Given the description of an element on the screen output the (x, y) to click on. 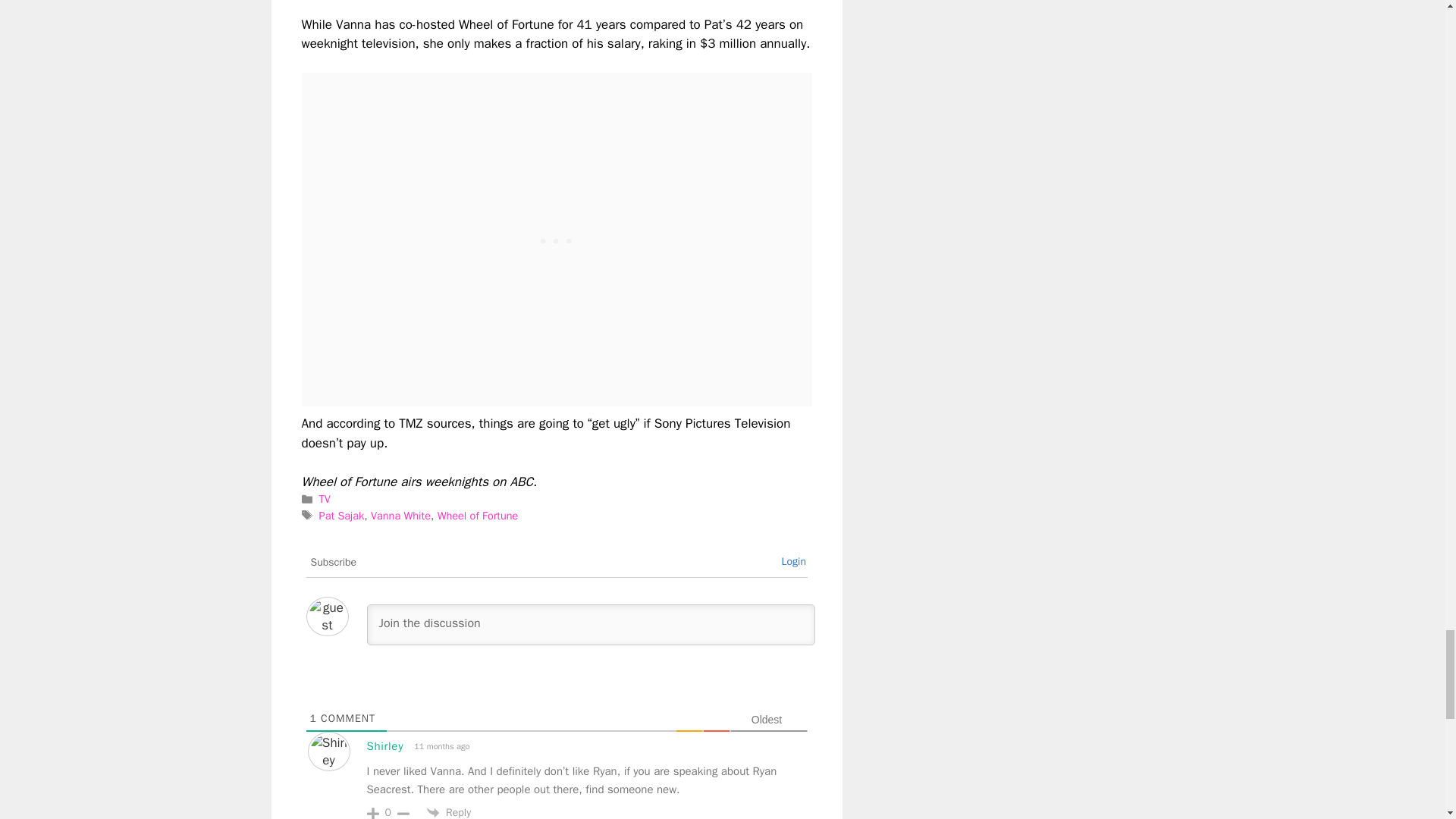
13th August 2023 9:59 am EDT (440, 746)
0 (387, 812)
Vanna White (400, 515)
Wheel of Fortune (478, 515)
Login (793, 561)
Pat Sajak (341, 515)
